Given the description of an element on the screen output the (x, y) to click on. 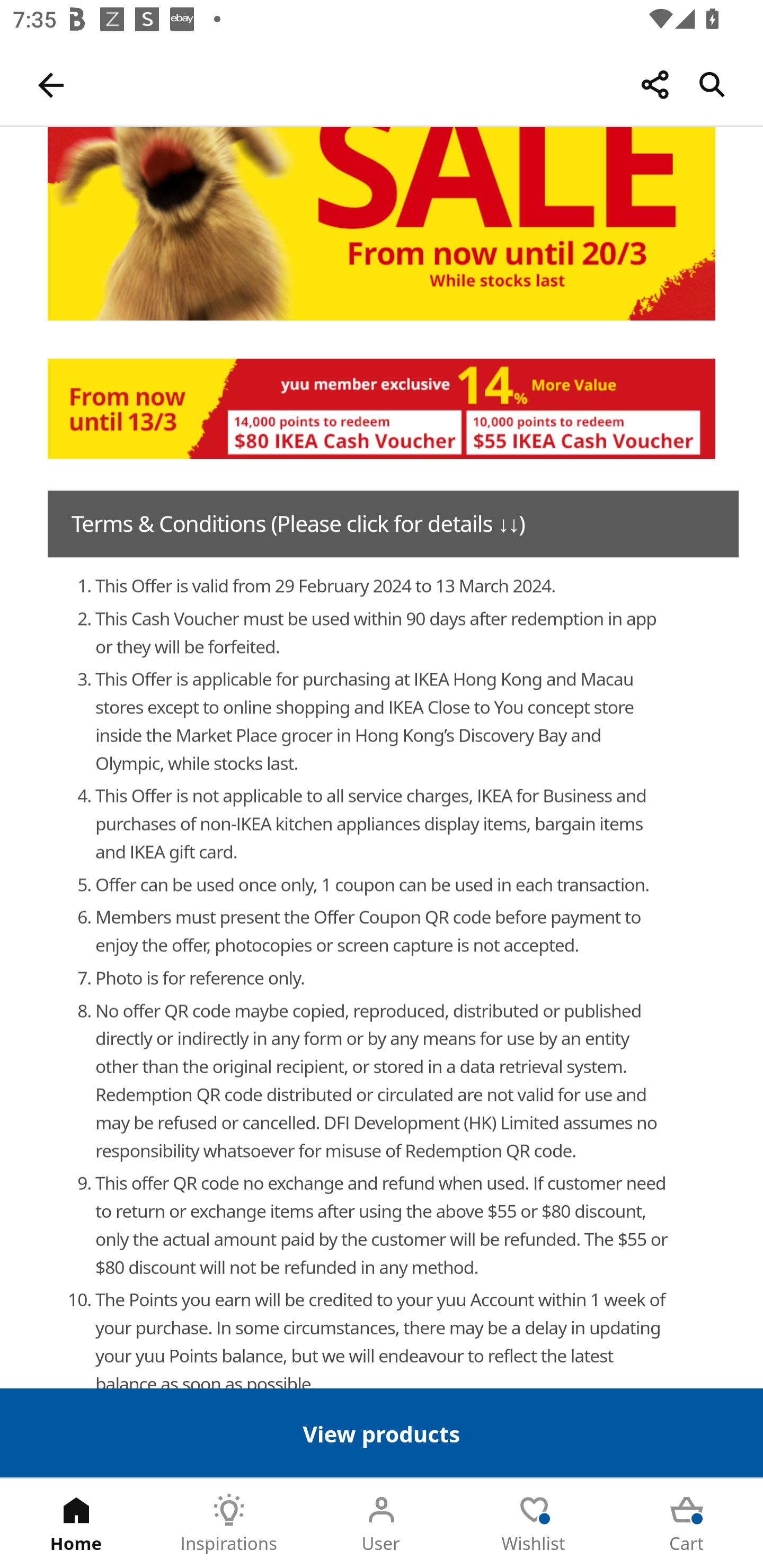
Terms & Conditions (Please click for details ↓↓) (393, 524)
View products (381, 1432)
Home
Tab 1 of 5 (76, 1522)
Inspirations
Tab 2 of 5 (228, 1522)
User
Tab 3 of 5 (381, 1522)
Wishlist
Tab 4 of 5 (533, 1522)
Cart
Tab 5 of 5 (686, 1522)
